Given the description of an element on the screen output the (x, y) to click on. 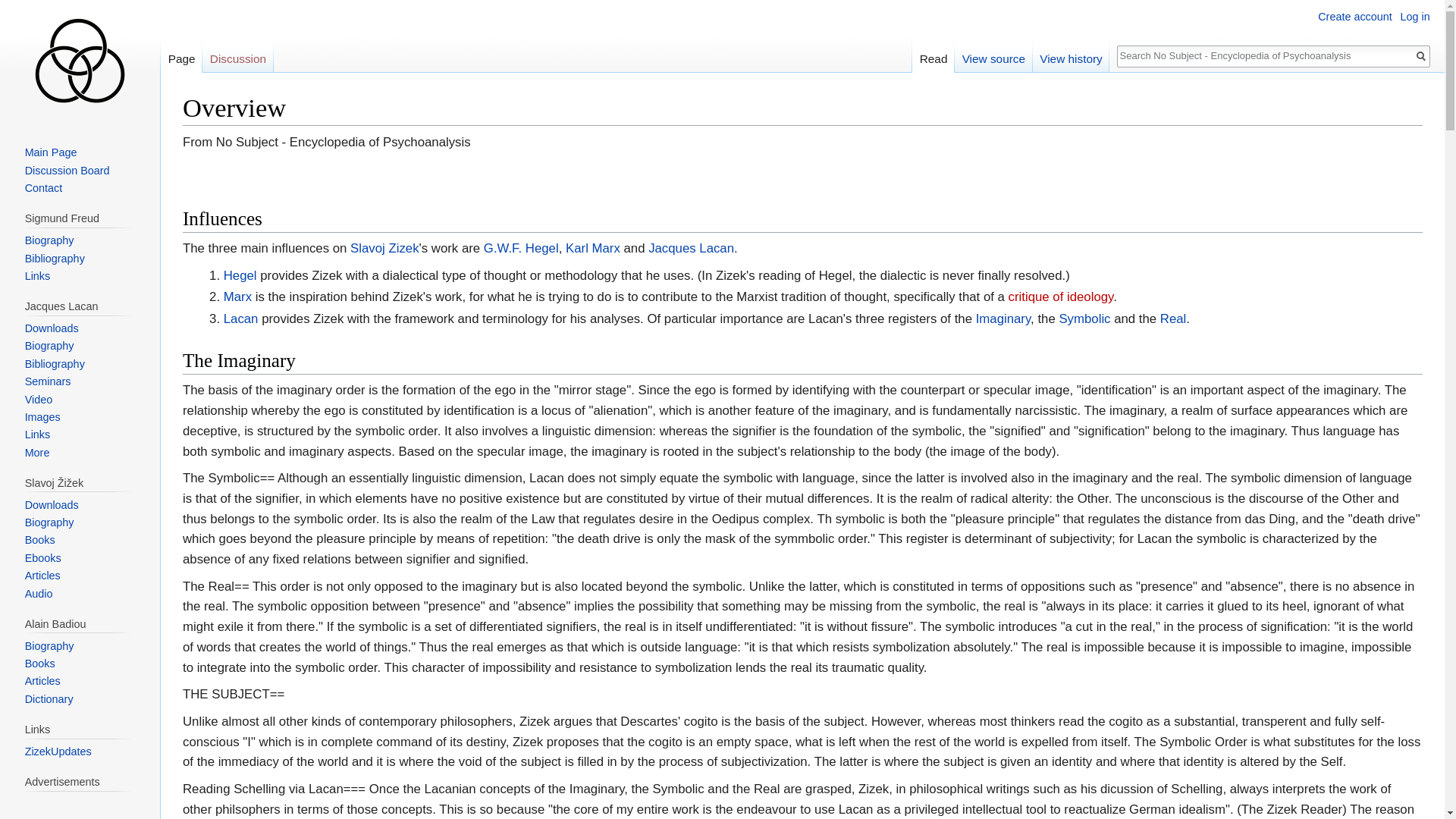
Hegel (240, 275)
Imaginary (1002, 318)
Seminars (47, 381)
Main Page (50, 152)
Lacan (241, 318)
Marx (237, 296)
Bibliography (54, 363)
View source (993, 54)
G.W.F. Hegel (521, 247)
